Given the description of an element on the screen output the (x, y) to click on. 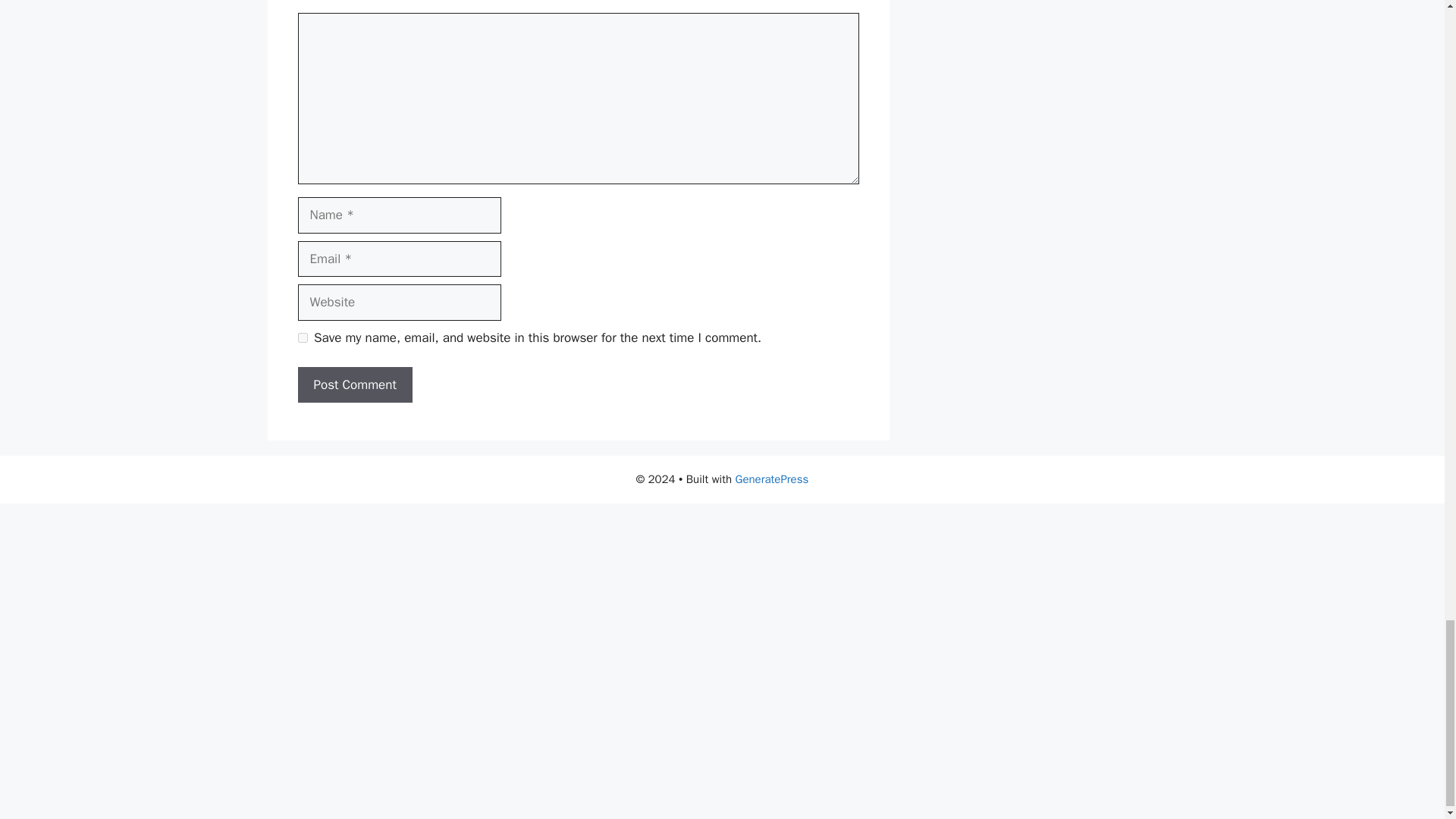
Post Comment (354, 384)
yes (302, 337)
Post Comment (354, 384)
GeneratePress (772, 479)
